Given the description of an element on the screen output the (x, y) to click on. 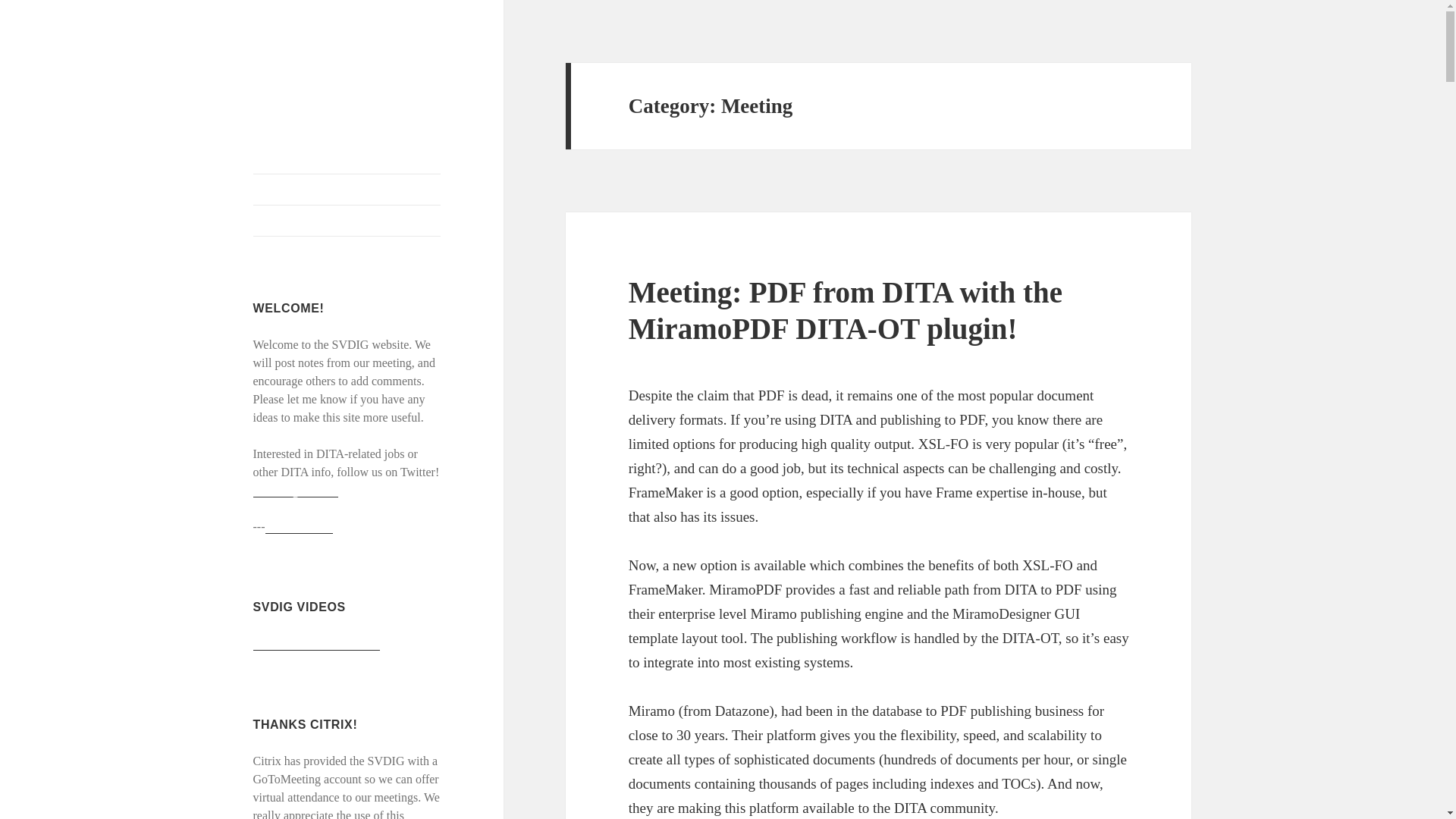
About (347, 220)
SVDIG (285, 74)
Next Meeting (347, 189)
SVDIG YouTube Channel (316, 643)
Scott Prentice (298, 526)
